Given the description of an element on the screen output the (x, y) to click on. 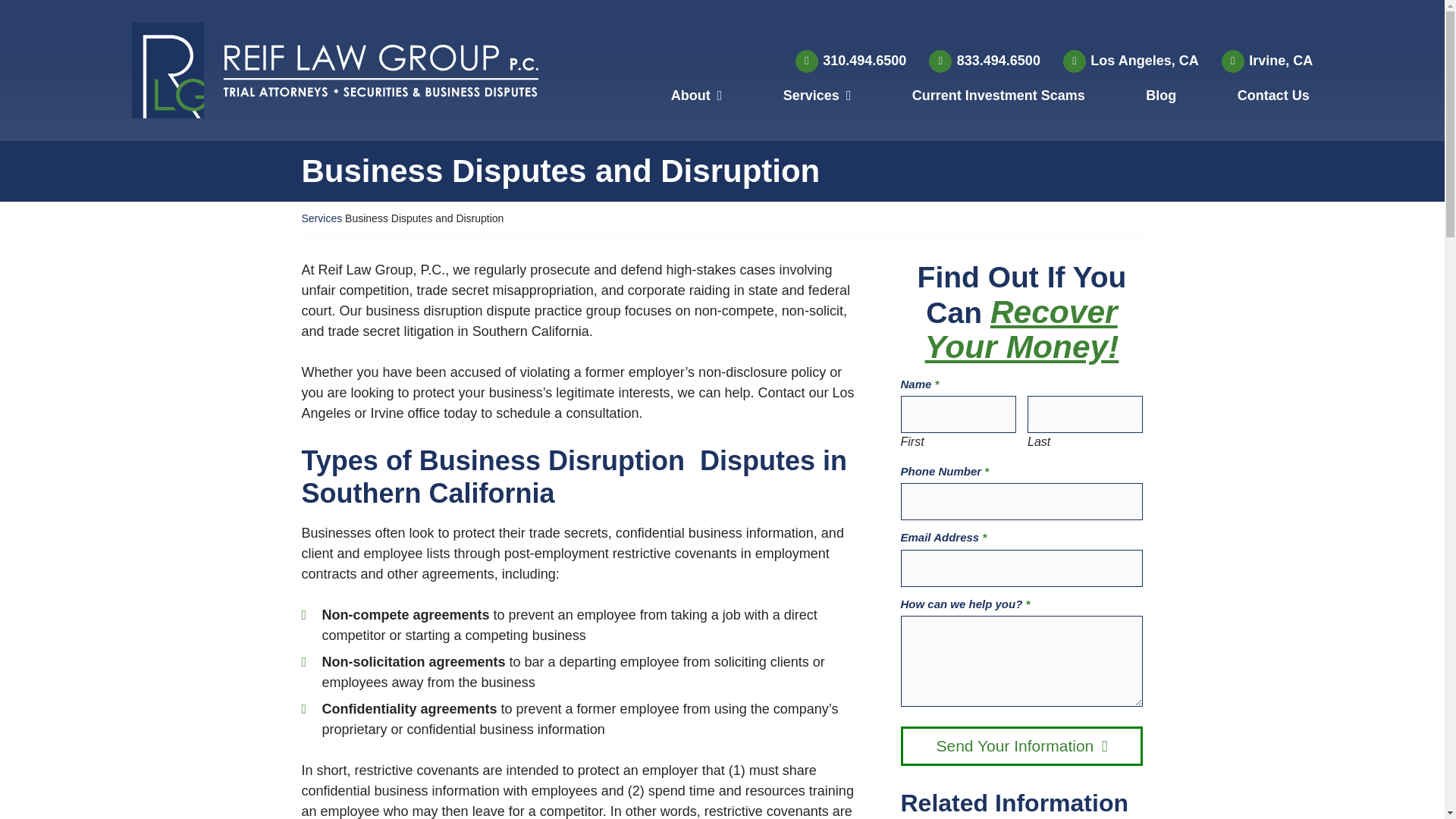
310.494.6500 (850, 60)
833.494.6500 (984, 60)
About (695, 98)
Services (321, 218)
Contact Us (1273, 98)
Send Your Information (1021, 745)
Current Investment Scams (997, 98)
Services (816, 98)
Return home (371, 69)
Blog (1160, 98)
